Given the description of an element on the screen output the (x, y) to click on. 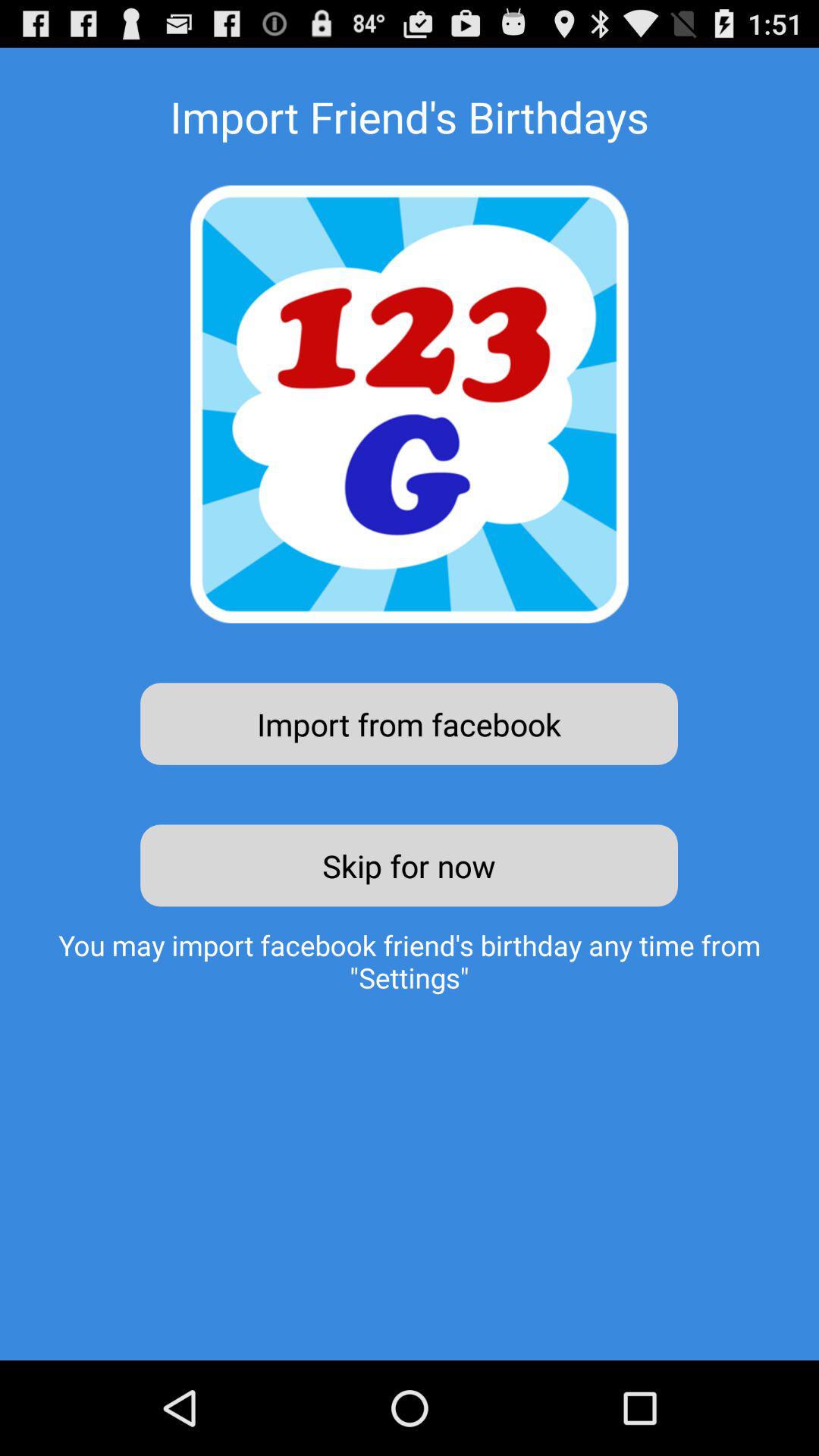
open the item above the you may import item (408, 865)
